Given the description of an element on the screen output the (x, y) to click on. 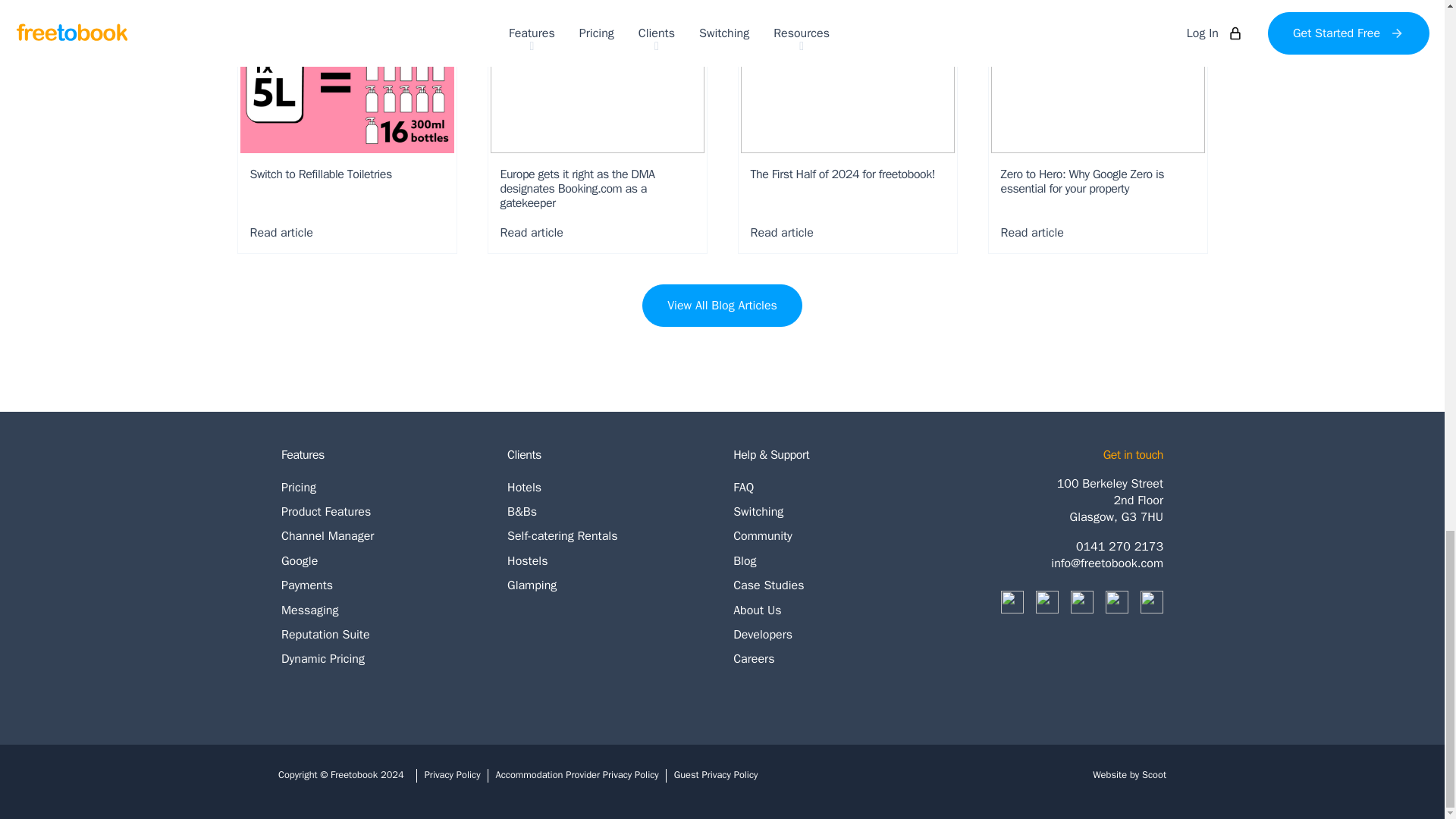
Self-catering Rentals (607, 535)
Messaging (382, 610)
Hotels (607, 487)
Dynamic Pricing (382, 658)
Pricing (382, 487)
View All Blog Articles (722, 305)
Payments (382, 585)
Reputation Suite (382, 634)
Channel Manager (382, 535)
Google (382, 560)
Product Features (382, 511)
